Given the description of an element on the screen output the (x, y) to click on. 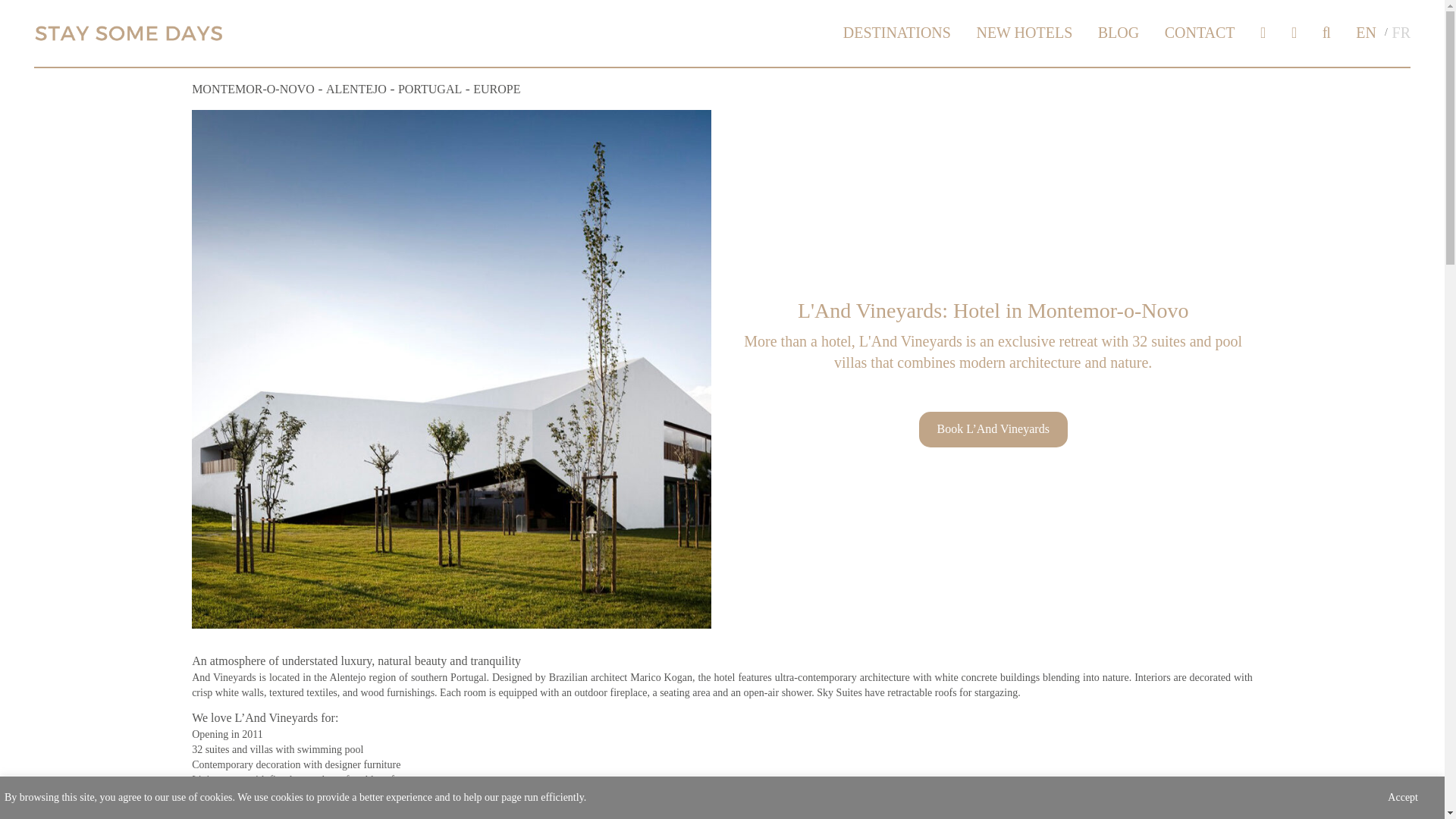
CONTACT (1199, 27)
BLOG (1118, 27)
Alentejorope (356, 88)
Portugalrope (429, 88)
Accept (1402, 797)
FR (1401, 27)
ALENTEJO (356, 88)
L'AND Vineyards (451, 367)
EUROPE (496, 88)
EN (1365, 27)
FR (1401, 27)
MONTEMOR-O-NOVO (253, 88)
Europe (496, 88)
DESTINATIONS (896, 27)
NEW HOTELS (1023, 27)
